Given the description of an element on the screen output the (x, y) to click on. 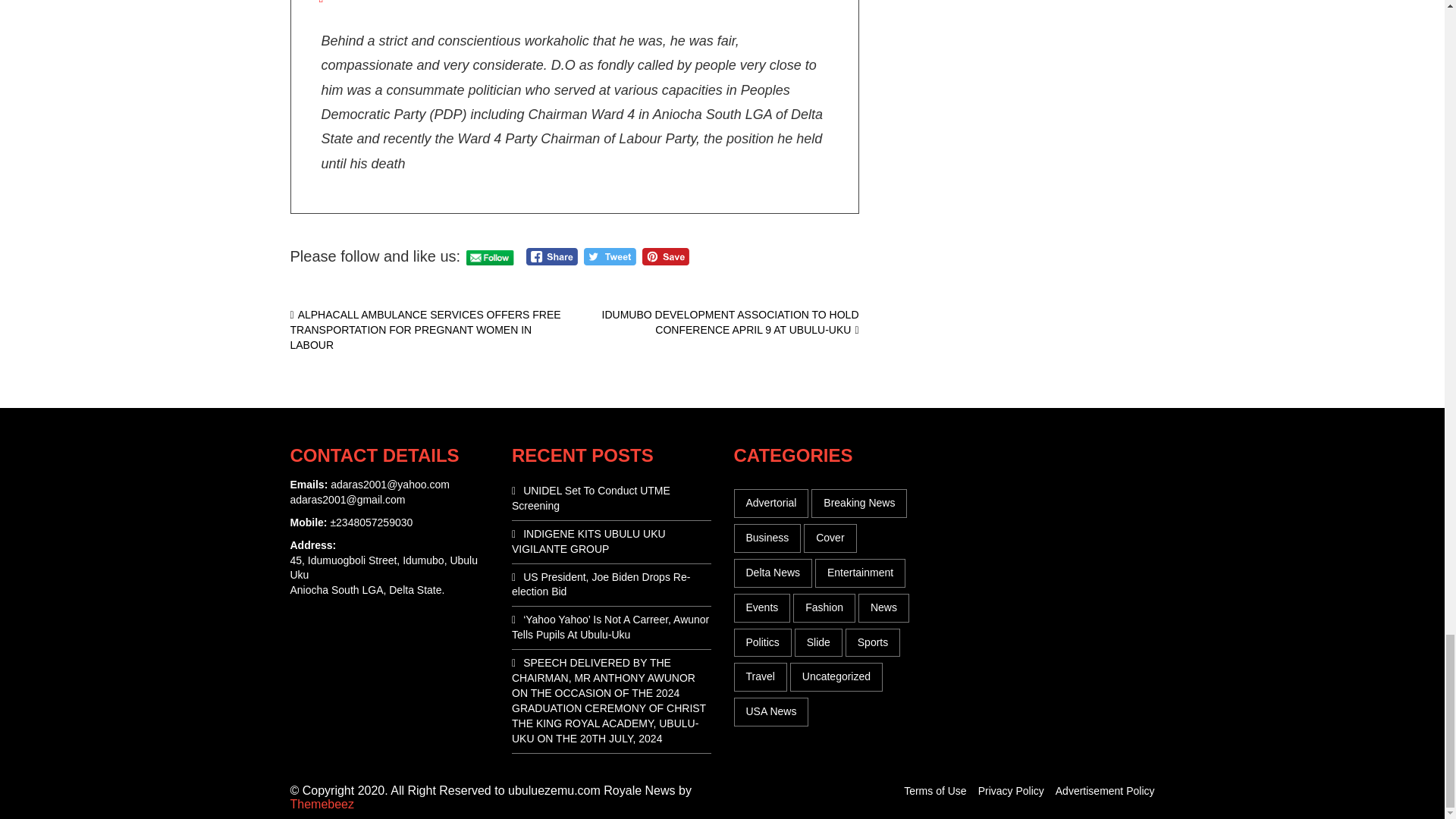
Tweet (609, 256)
Facebook Share (551, 256)
Pin Share (665, 256)
